Given the description of an element on the screen output the (x, y) to click on. 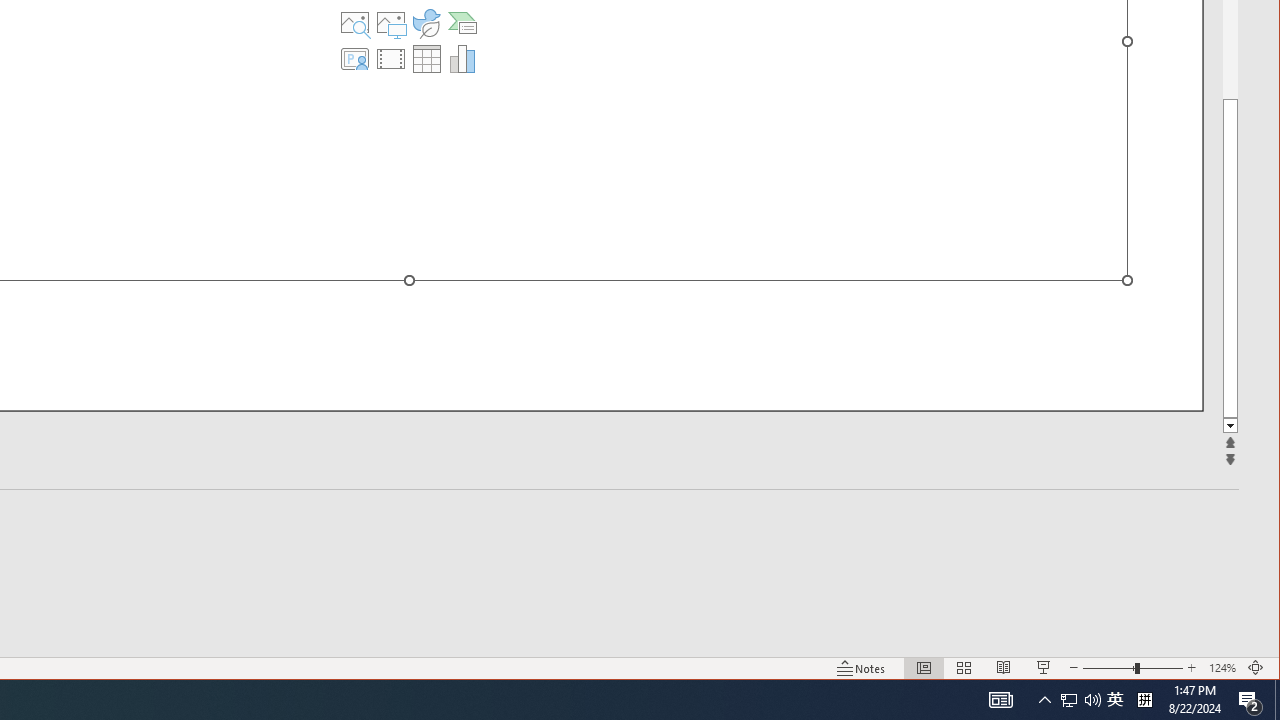
Insert Chart (462, 58)
Stock Images (355, 22)
